Given the description of an element on the screen output the (x, y) to click on. 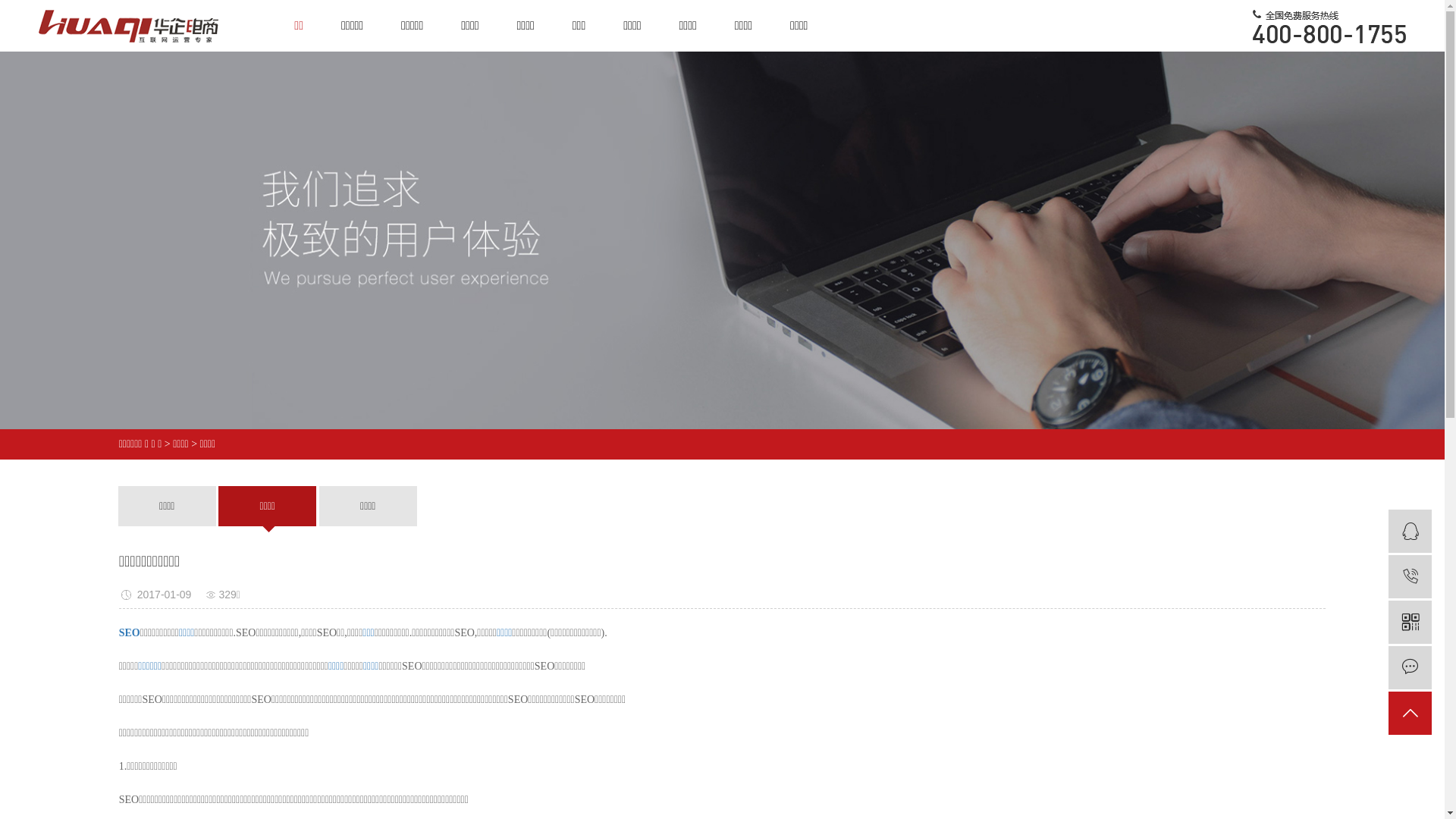
1568682666136603.png Element type: hover (1328, 26)
SEO Element type: text (129, 632)
